Given the description of an element on the screen output the (x, y) to click on. 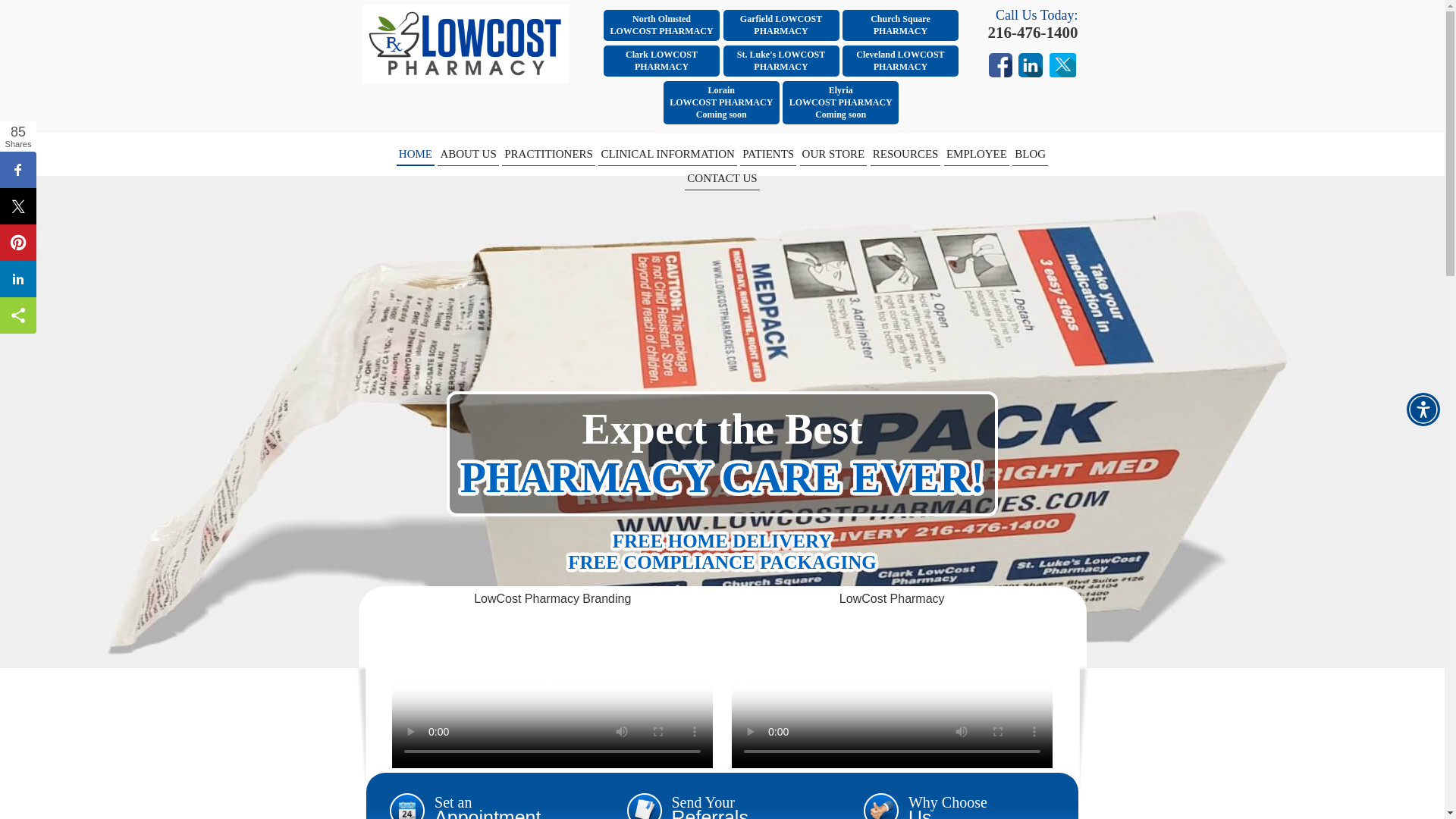
RESOURCES (900, 24)
CLINICAL INFORMATION (781, 60)
HOME (905, 153)
ABOUT US (667, 153)
PATIENTS (661, 60)
